Given the description of an element on the screen output the (x, y) to click on. 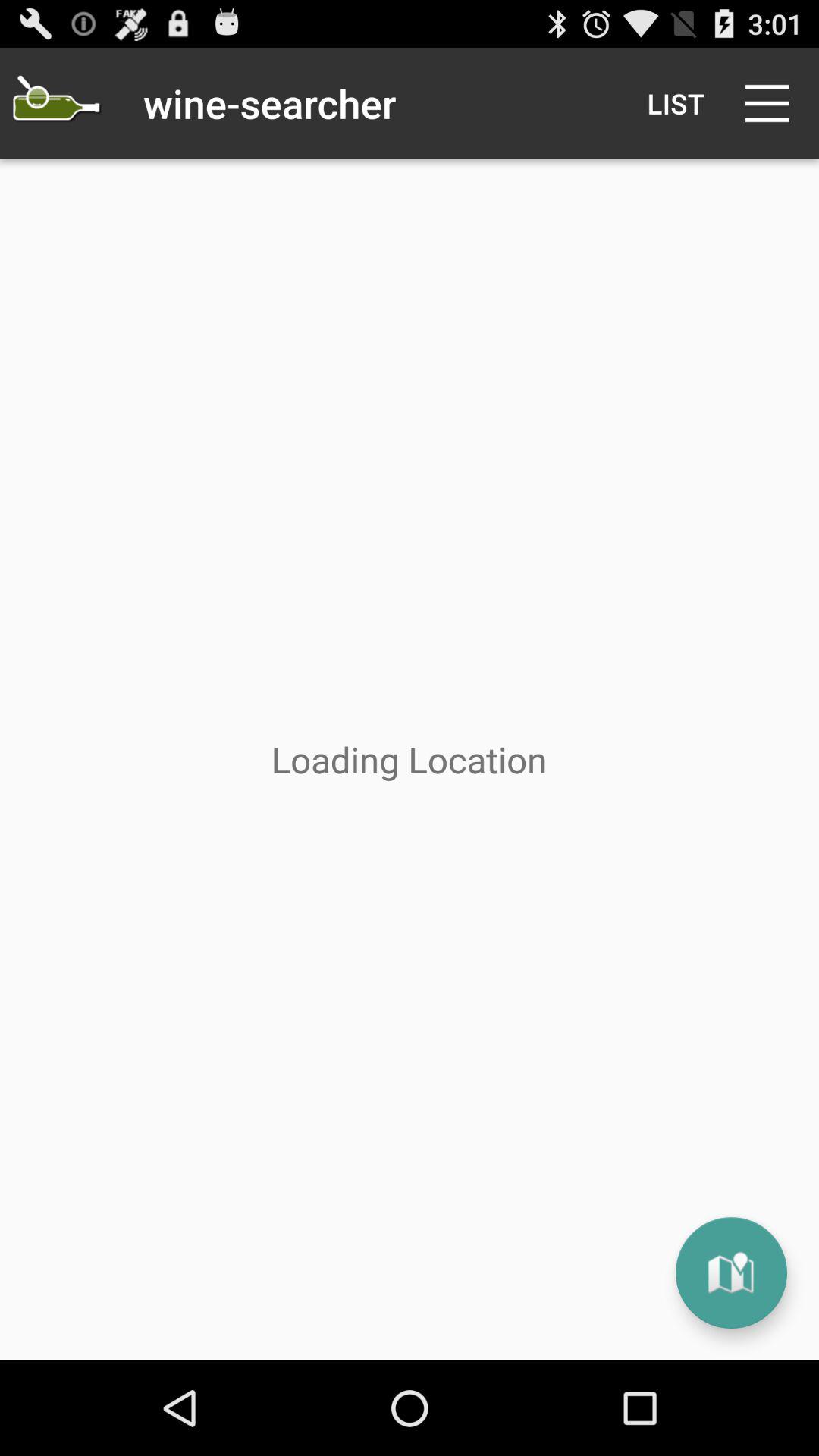
turn on item to the left of the wine-searcher item (55, 103)
